Given the description of an element on the screen output the (x, y) to click on. 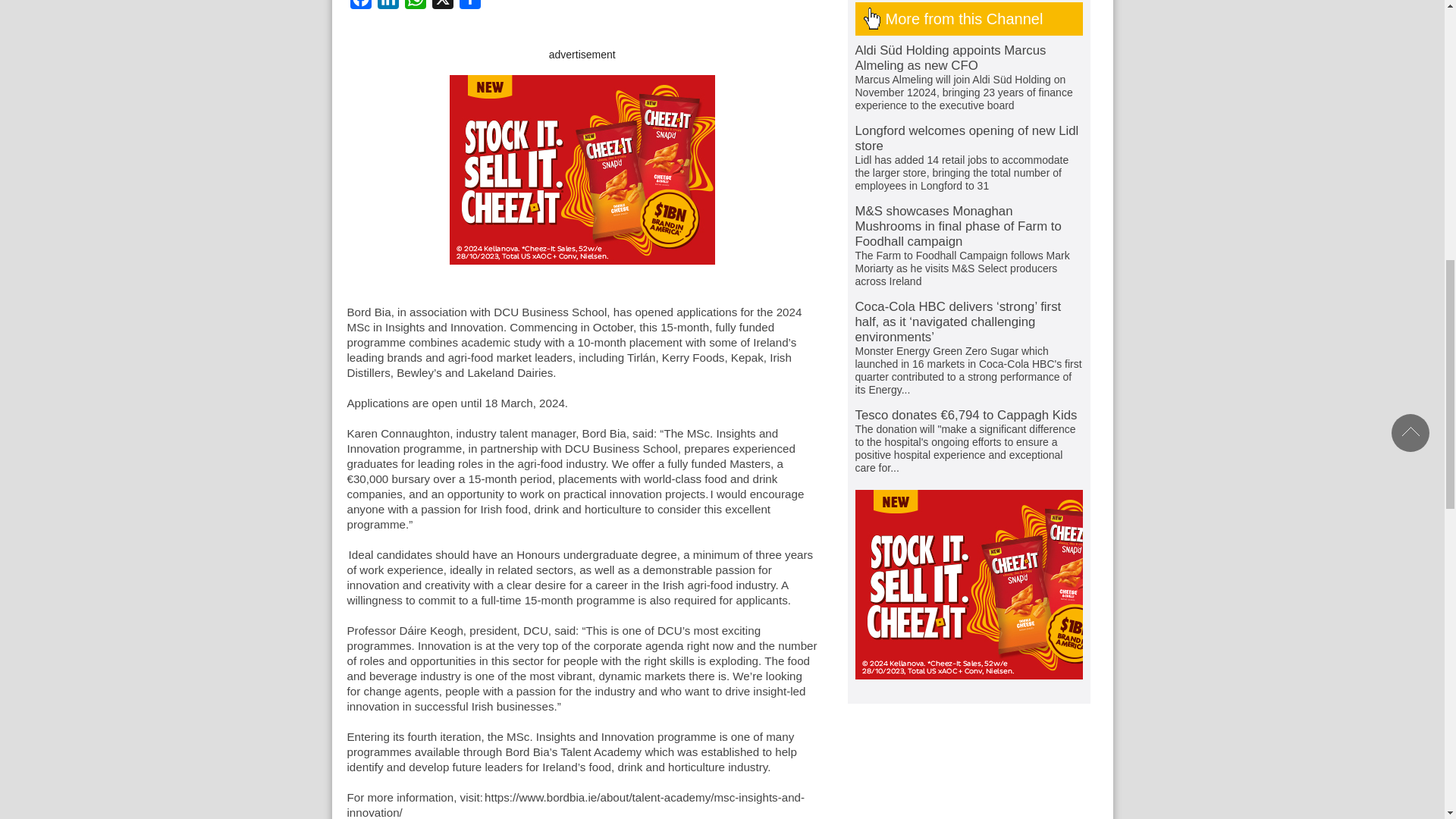
Facebook (360, 5)
LinkedIn (387, 5)
X (443, 5)
WhatsApp (415, 5)
